Given the description of an element on the screen output the (x, y) to click on. 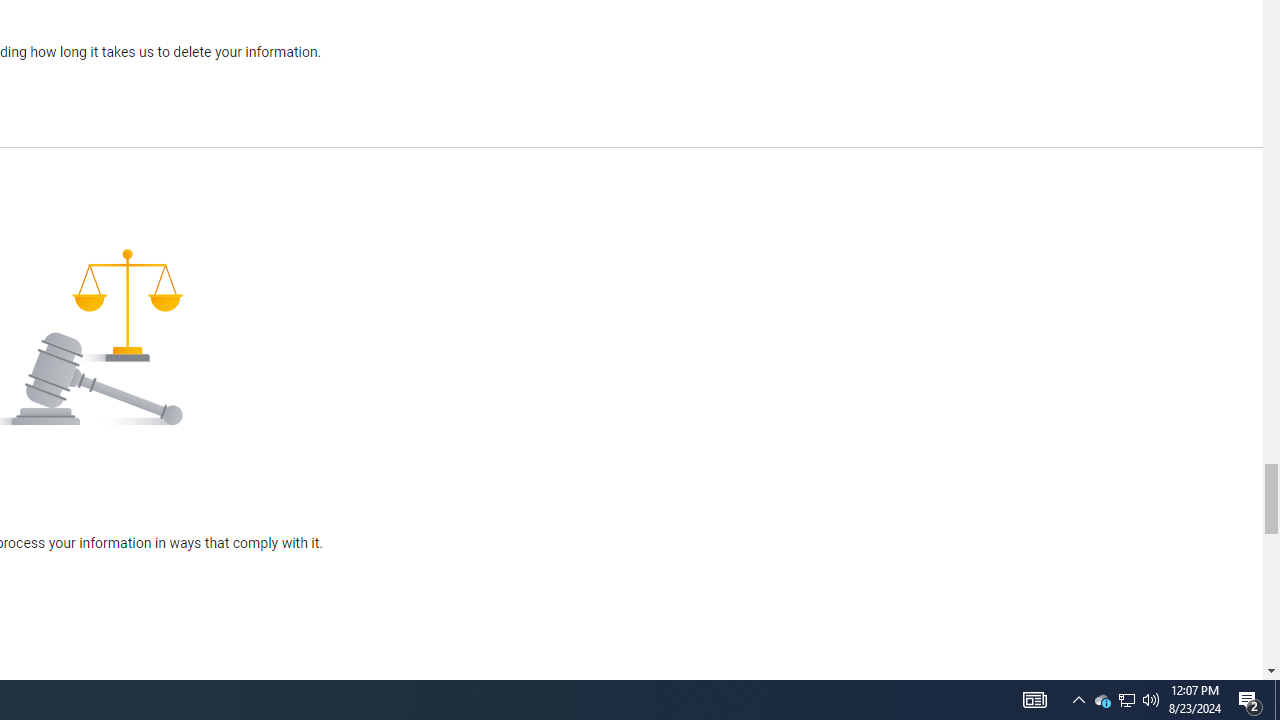
Show desktop (1277, 699)
Action Center, 2 new notifications (1102, 699)
Notification Chevron (1250, 699)
Q2790: 100% (1078, 699)
AutomationID: 4105 (1151, 699)
User Promoted Notification Area (1034, 699)
